Given the description of an element on the screen output the (x, y) to click on. 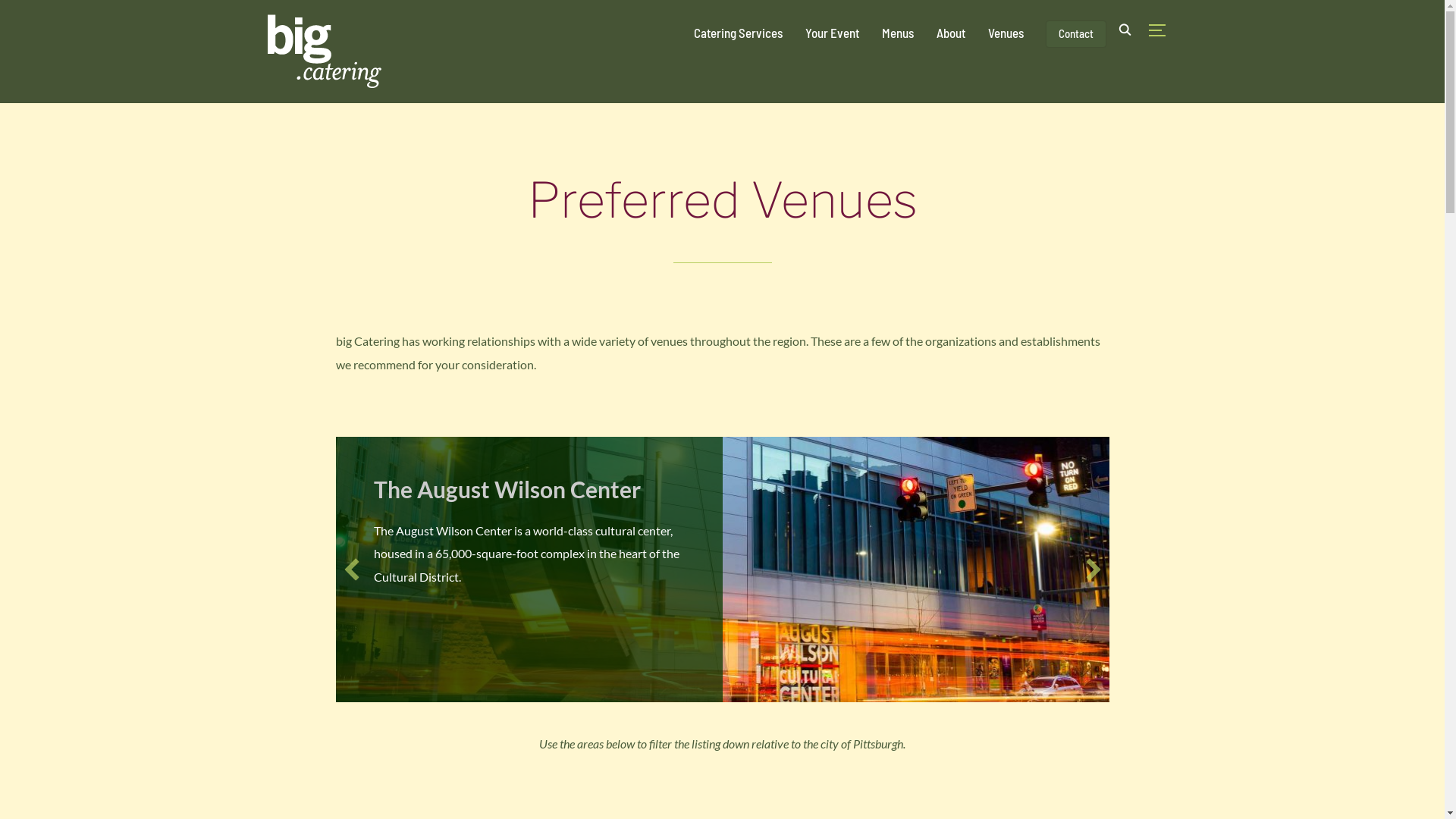
Menus Element type: text (897, 32)
Venues Element type: text (1004, 32)
Your Event Element type: text (832, 32)
Contact Element type: text (1075, 34)
Search Element type: text (15, 15)
The August Wilson Center Element type: text (506, 488)
TOGGLE SIDEBAR & NAVIGATION Element type: text (1161, 30)
Catering Services Element type: text (737, 32)
About Element type: text (949, 32)
